Given the description of an element on the screen output the (x, y) to click on. 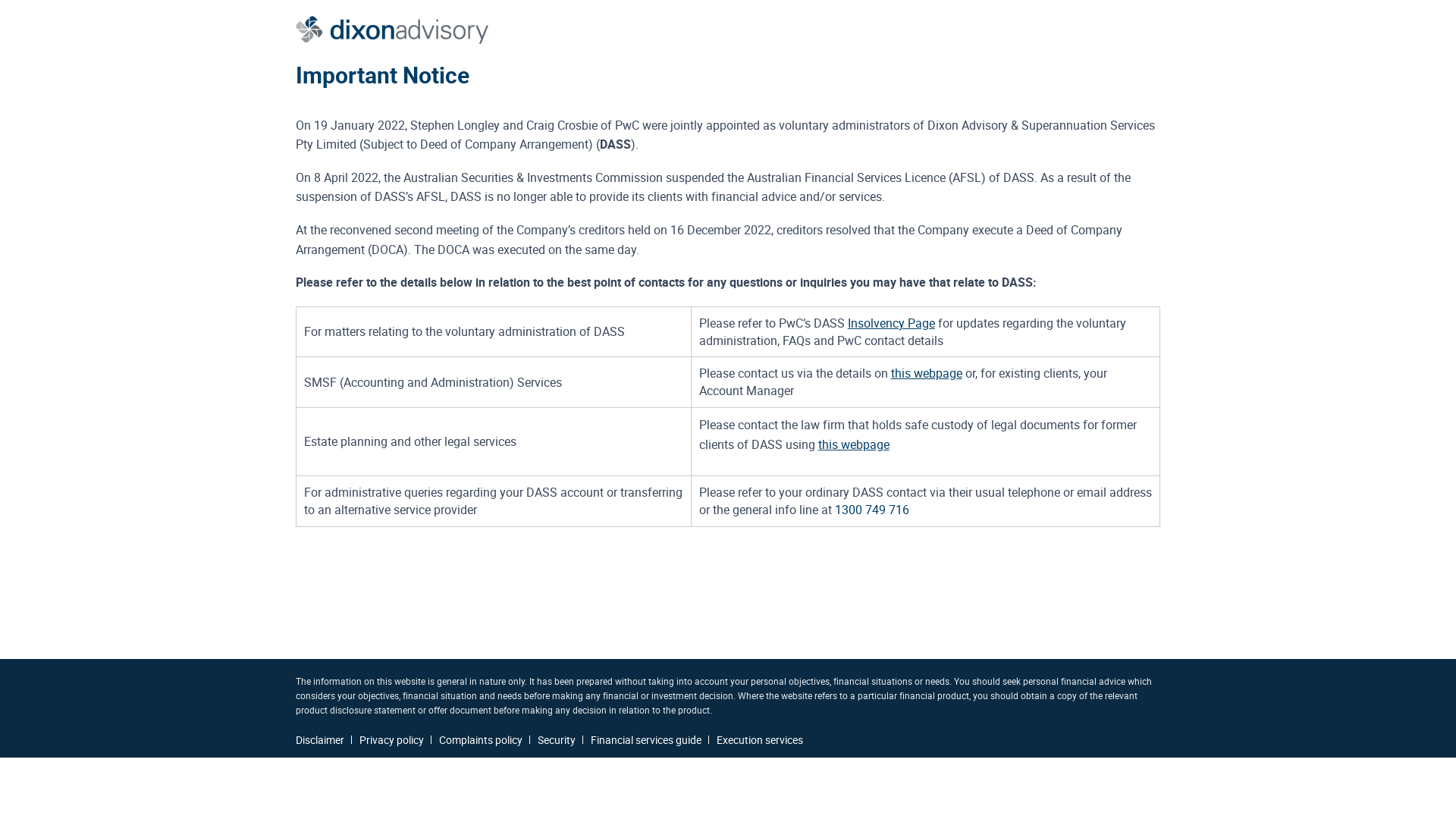
Complaints policy Element type: text (480, 739)
Disclaimer Element type: text (319, 739)
1300 749 716 Element type: text (871, 509)
this webpage Element type: text (926, 372)
Insolvency Page Element type: text (891, 322)
Financial services guide Element type: text (645, 739)
this webpage Element type: text (853, 444)
Privacy policy Element type: text (391, 739)
Security Element type: text (556, 739)
Execution services Element type: text (759, 739)
